Given the description of an element on the screen output the (x, y) to click on. 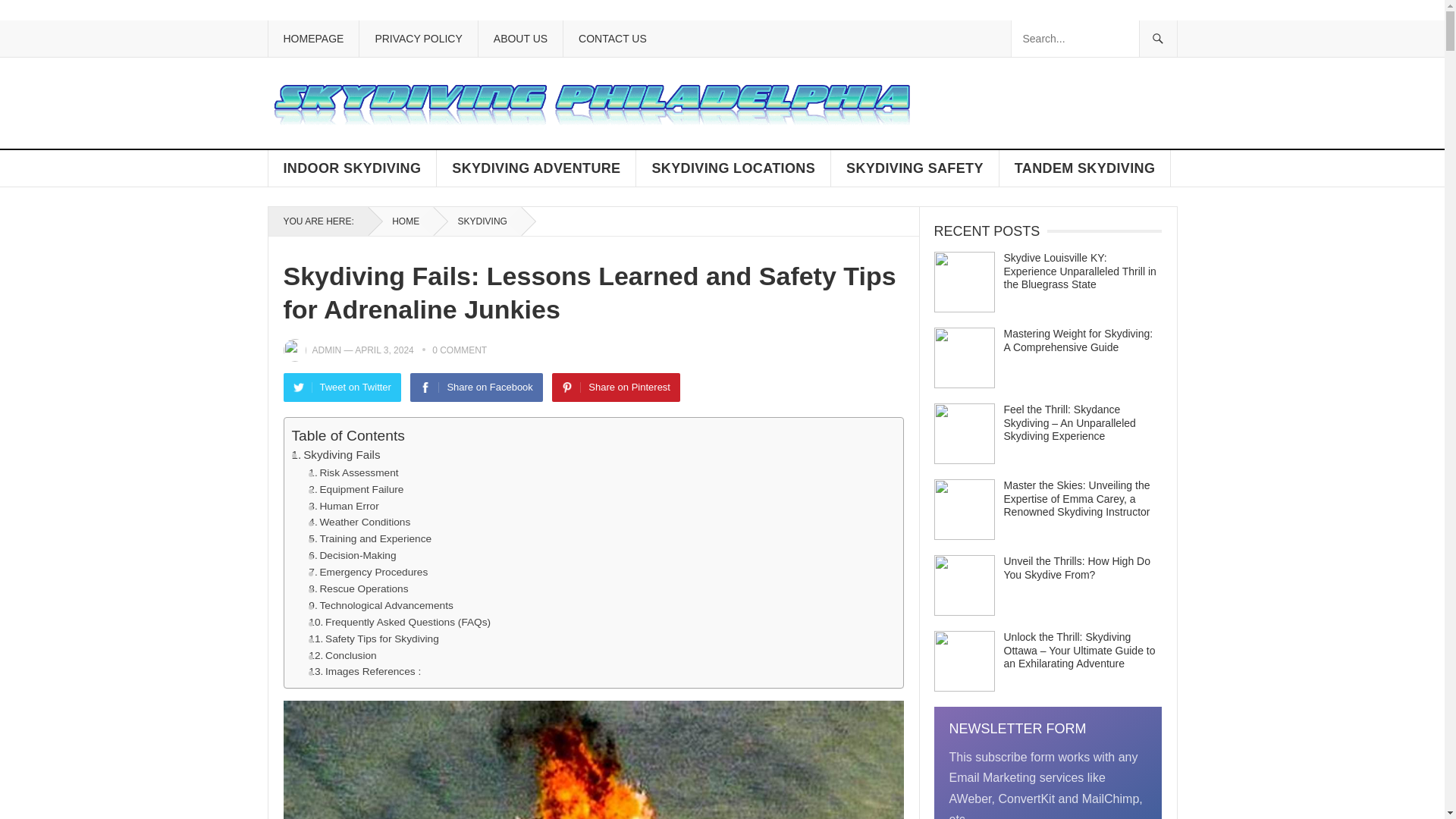
SKYDIVING ADVENTURE (536, 167)
Decision-Making (352, 555)
Human Error (343, 505)
CONTACT US (612, 38)
Rescue Operations (357, 588)
Rescue Operations (357, 588)
Training and Experience (369, 538)
Training and Experience (369, 538)
INDOOR SKYDIVING (352, 167)
Decision-Making (352, 555)
ABOUT US (519, 38)
TANDEM SKYDIVING (1084, 167)
Skydiving Fails (335, 454)
SKYDIVING LOCATIONS (733, 167)
Weather Conditions (359, 522)
